Given the description of an element on the screen output the (x, y) to click on. 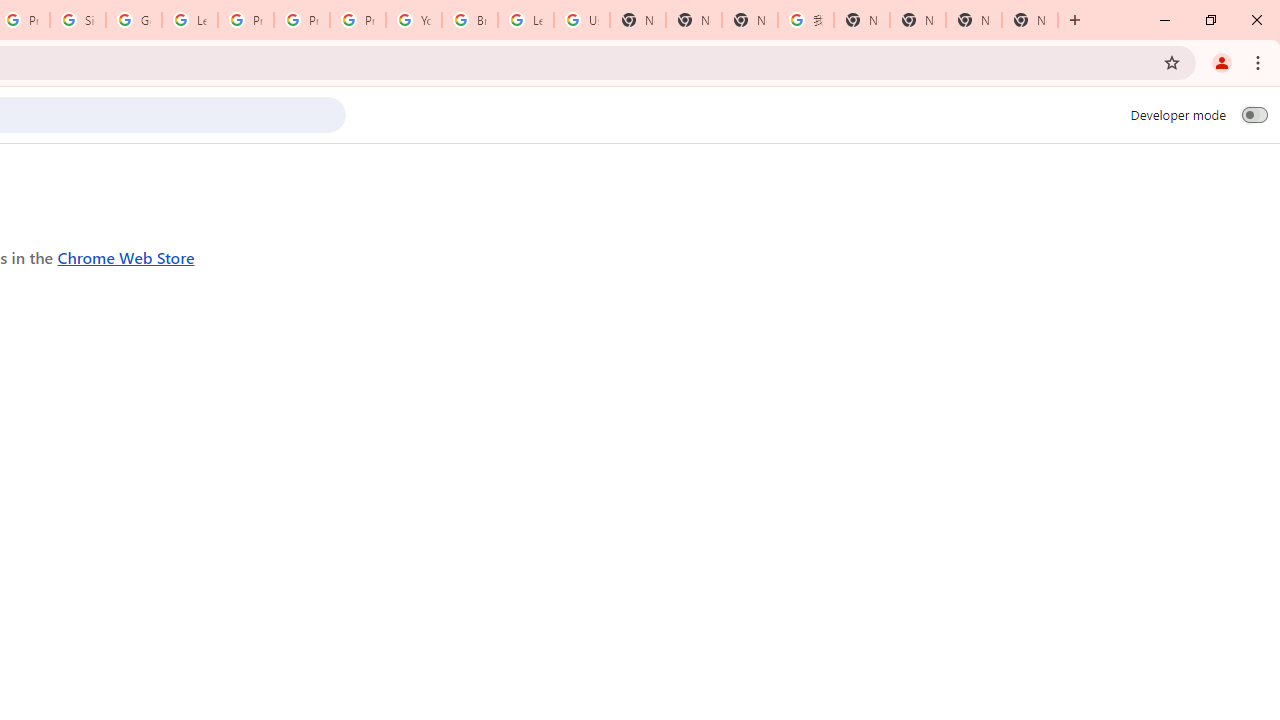
New Tab (1030, 20)
Privacy Help Center - Policies Help (245, 20)
Chrome Web Store (125, 256)
Sign in - Google Accounts (77, 20)
